Given the description of an element on the screen output the (x, y) to click on. 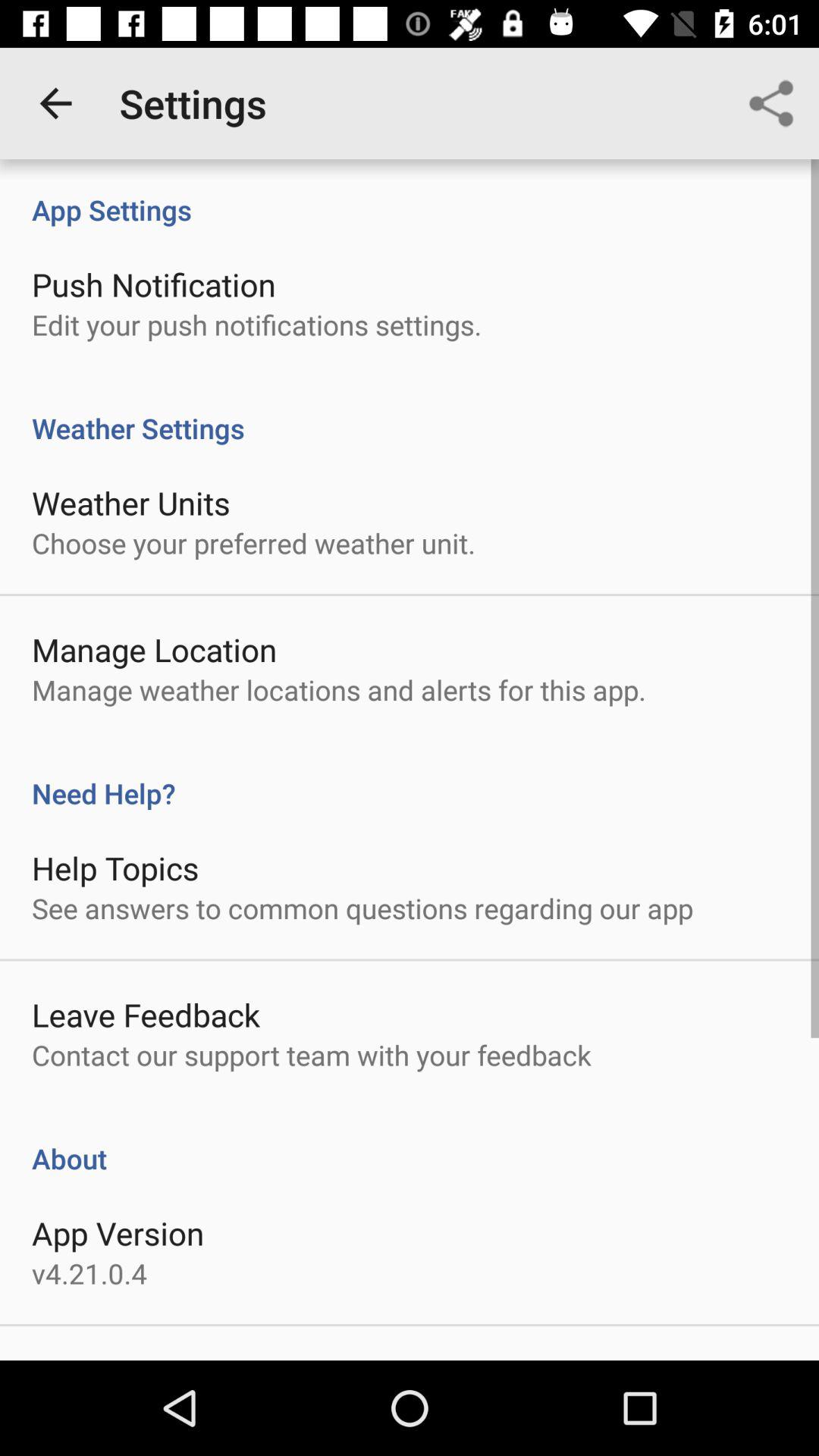
click the push notification (153, 283)
